Given the description of an element on the screen output the (x, y) to click on. 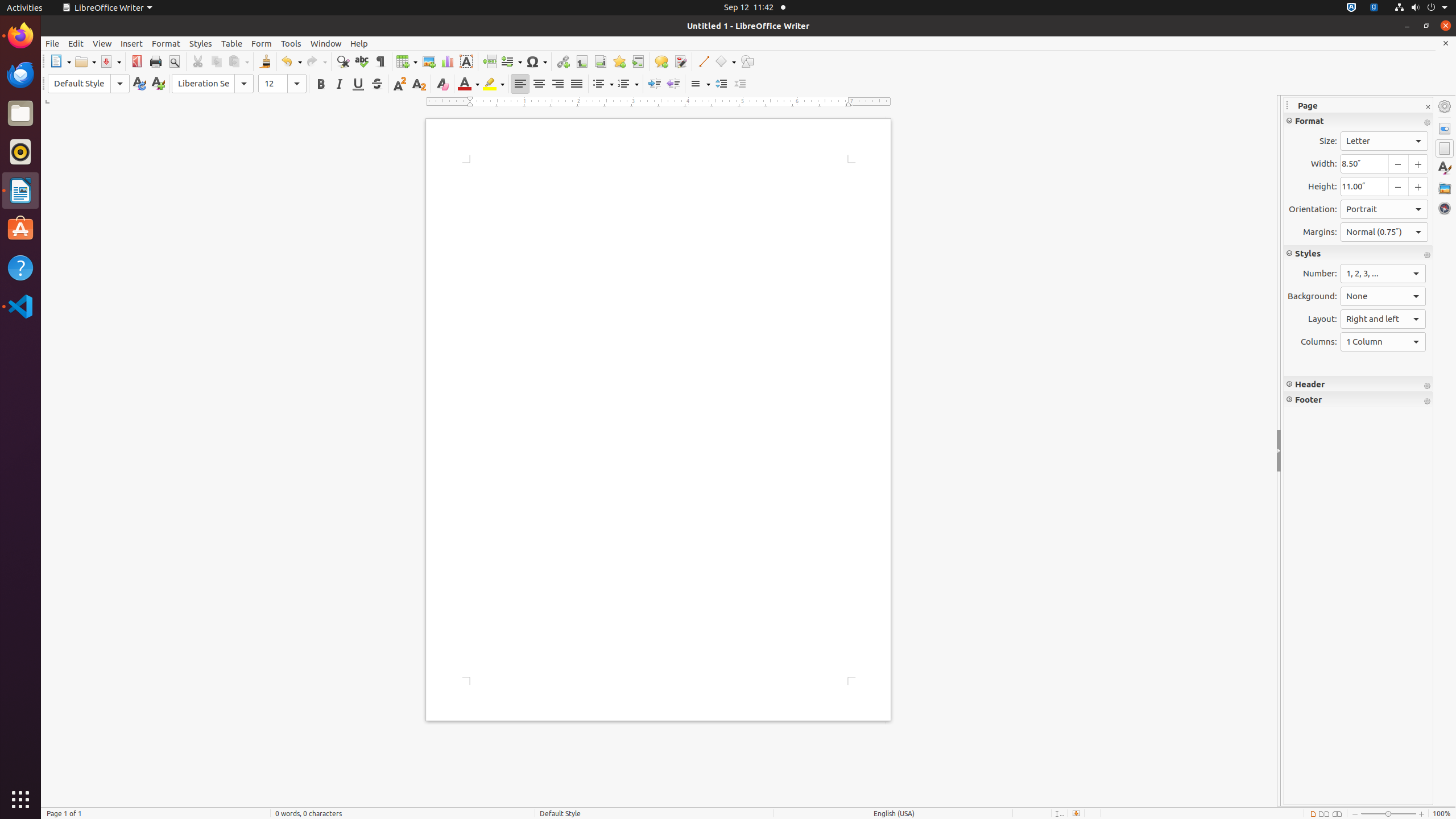
Cross-reference Element type: push-button (637, 61)
Size: Element type: combo-box (1384, 140)
Basic Shapes Element type: push-button (724, 61)
Close Sidebar Deck Element type: push-button (1427, 106)
Draw Functions Element type: push-button (746, 61)
